Given the description of an element on the screen output the (x, y) to click on. 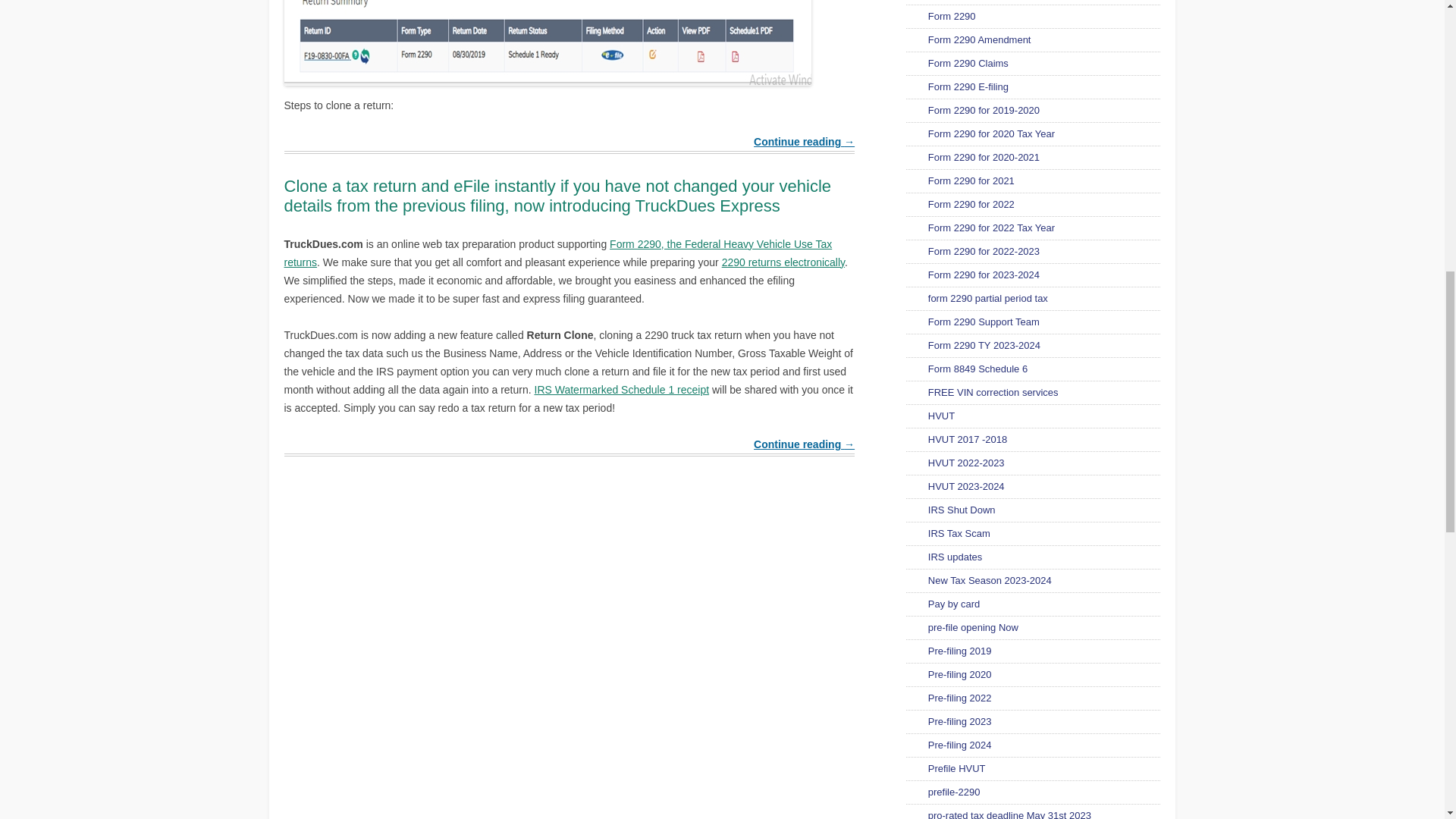
2290 returns electronically (783, 262)
Form 2290, the Federal Heavy Vehicle Use Tax returns (557, 253)
